Given the description of an element on the screen output the (x, y) to click on. 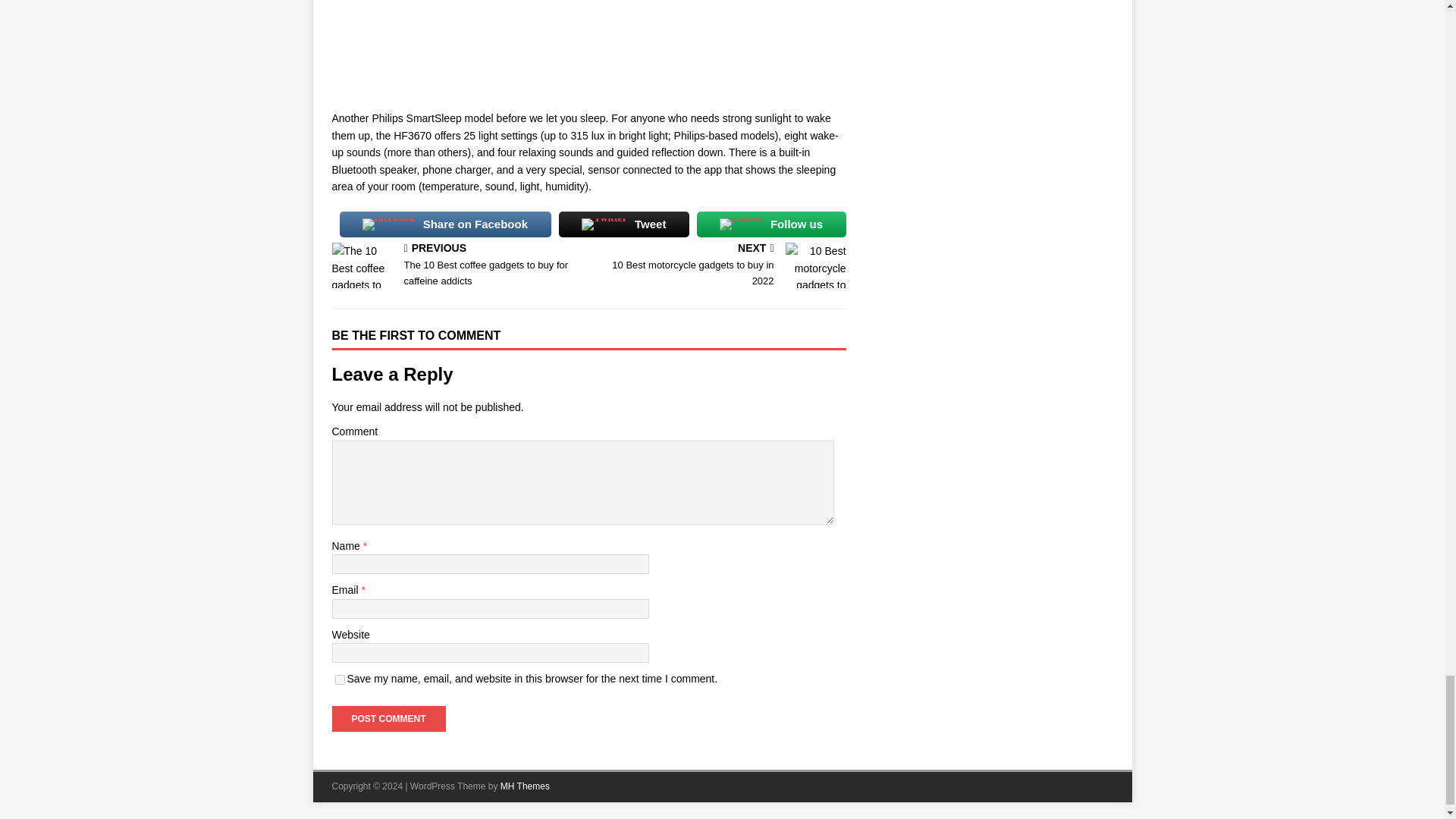
MH Themes (525, 786)
Post Comment (388, 718)
Post Comment (388, 718)
yes (339, 679)
Follow us (771, 224)
Tweet (623, 224)
Share on Facebook (720, 265)
